Given the description of an element on the screen output the (x, y) to click on. 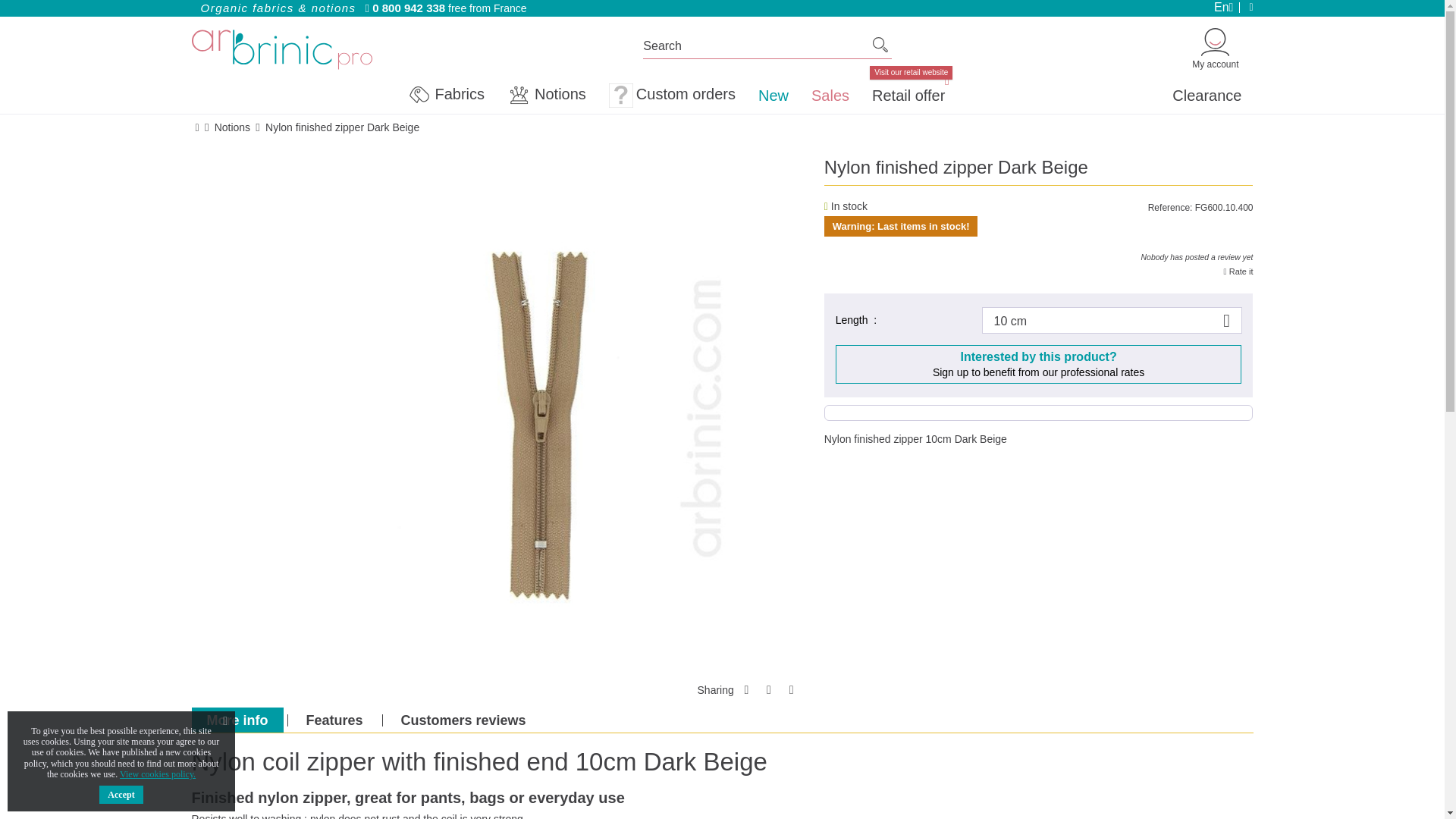
My account (1215, 47)
Return to Home (196, 127)
Ar Brinic (280, 49)
Fabrics (446, 94)
Notions (232, 127)
Log in to your customer account (1215, 47)
Contact us (1245, 7)
